Given the description of an element on the screen output the (x, y) to click on. 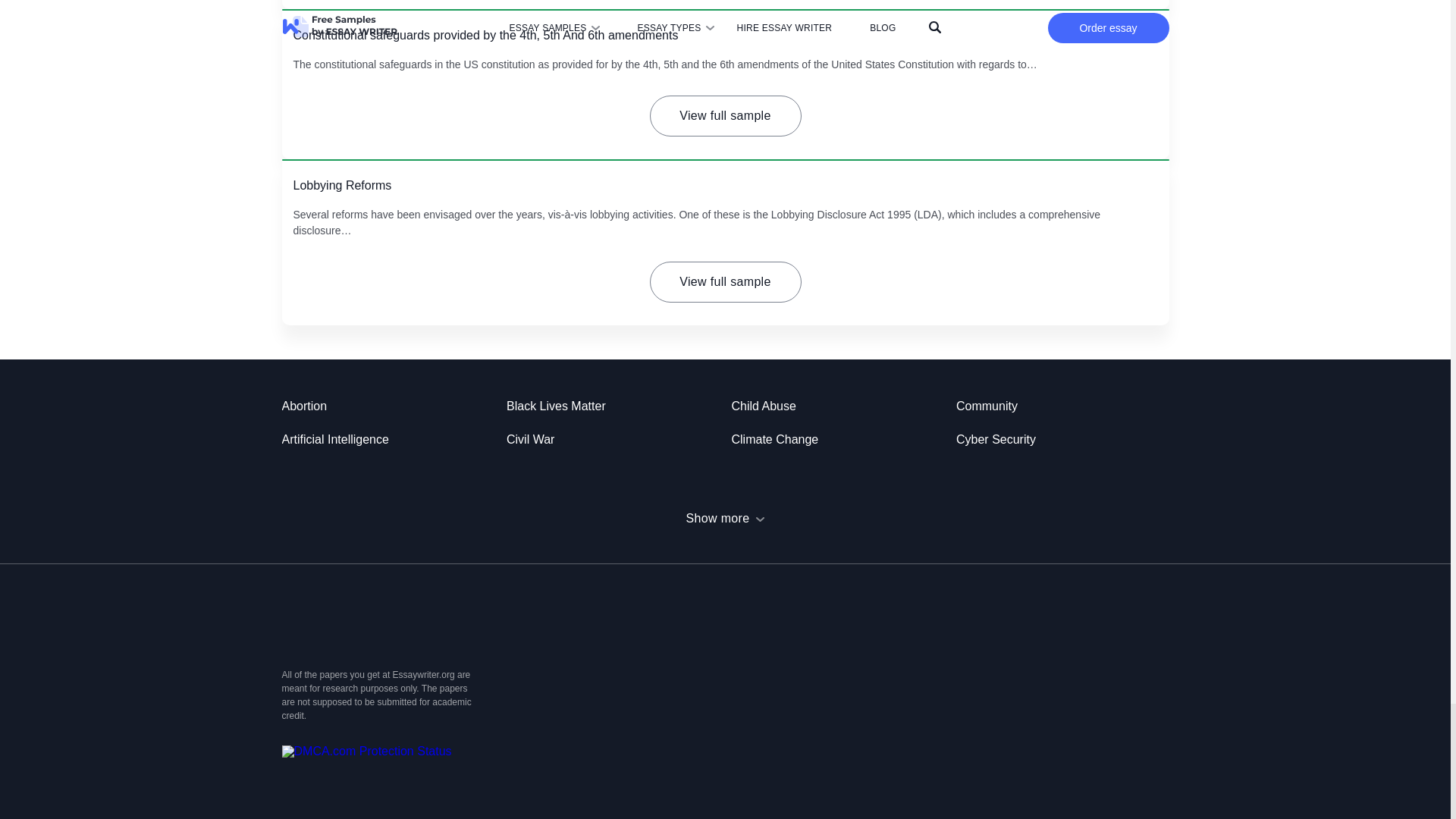
Lobbying Reforms (341, 185)
DMCA.com Protection Status (366, 750)
